Given the description of an element on the screen output the (x, y) to click on. 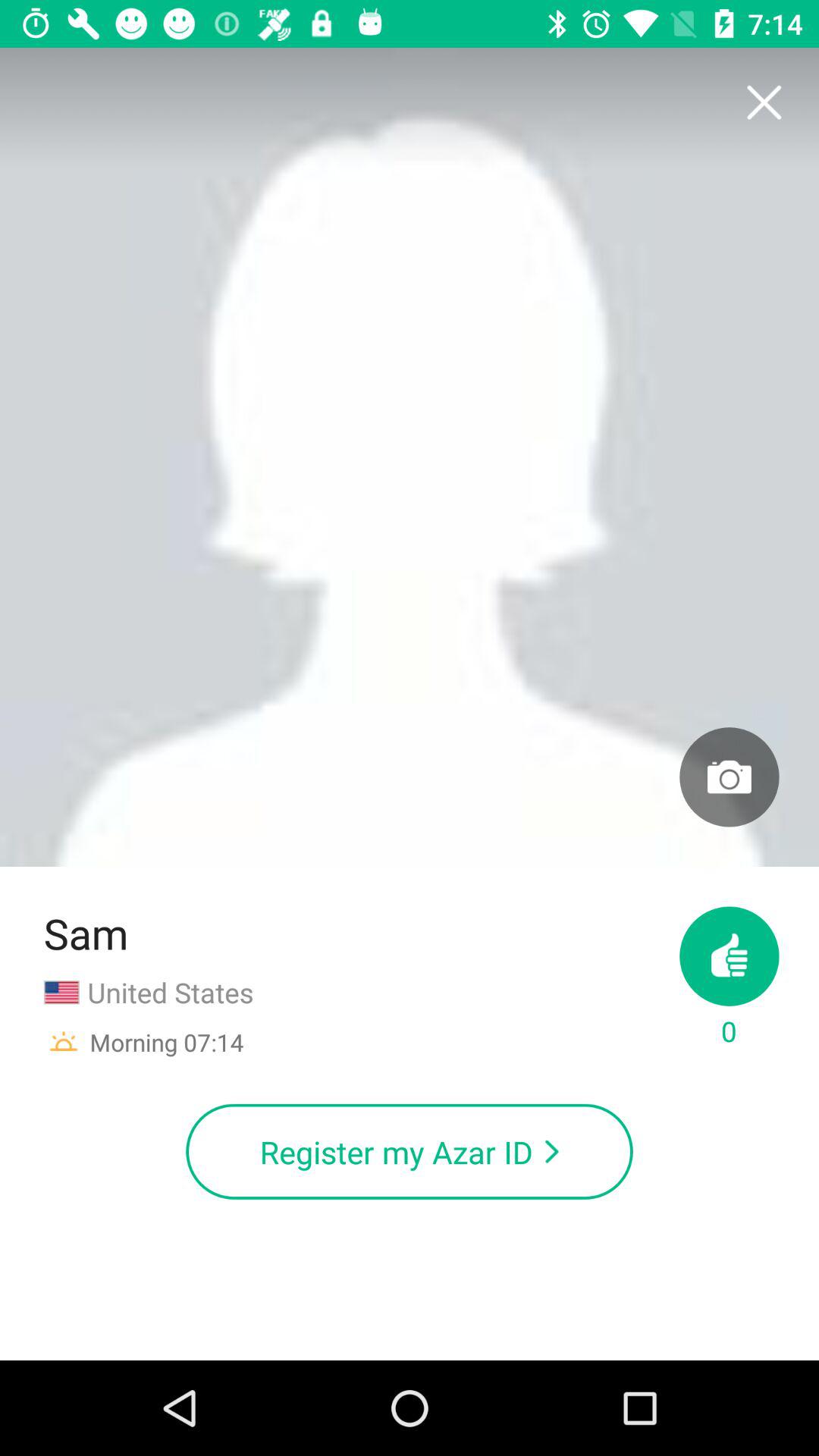
tap item at the top right corner (763, 103)
